Given the description of an element on the screen output the (x, y) to click on. 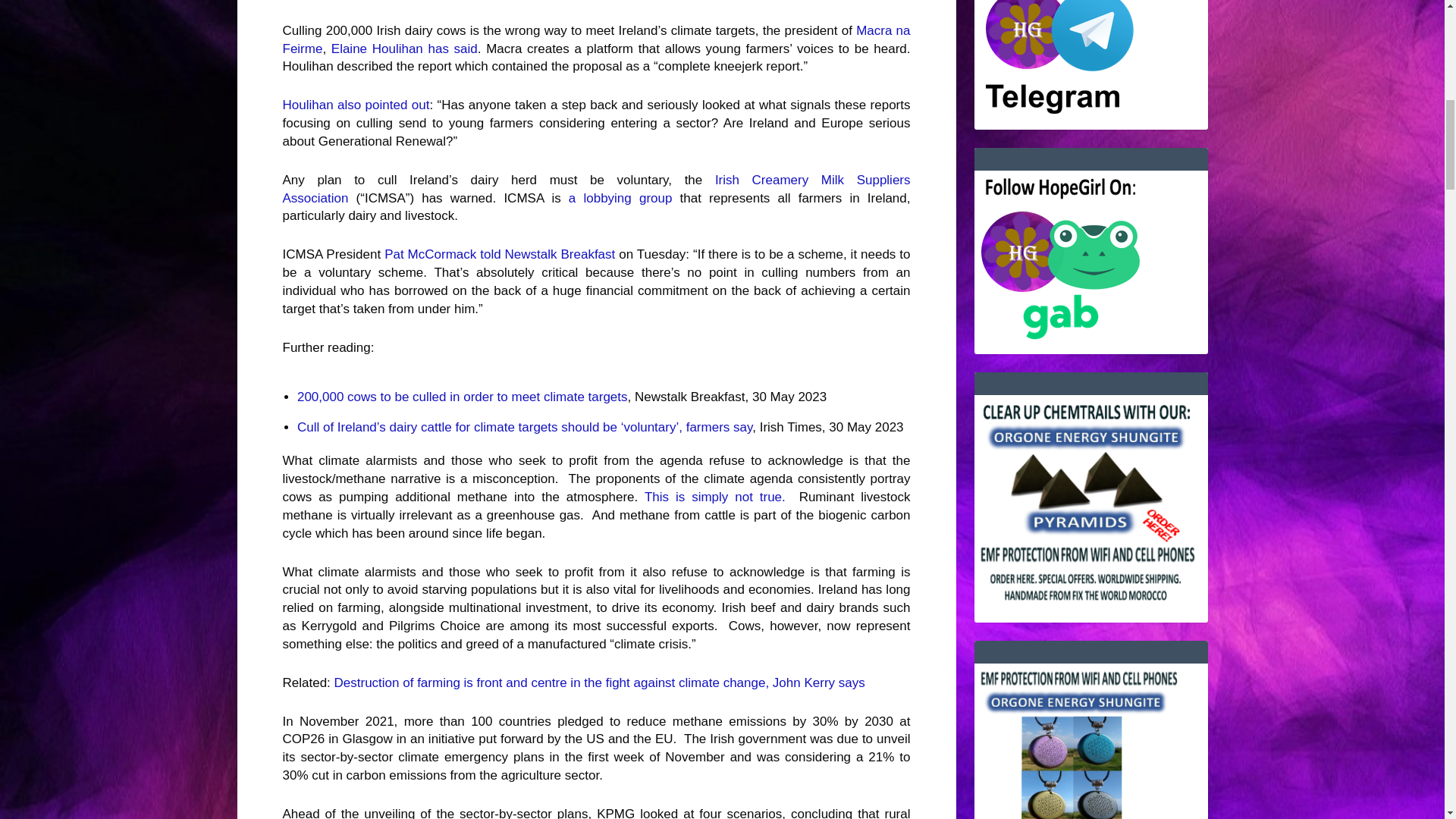
200,000 cows to be culled in order to meet climate targets (462, 396)
Pat McCormack told Newstalk Breakfast (499, 254)
Irish Creamery Milk Suppliers Association (596, 188)
Macra na Feirme (596, 39)
a lobbying group (620, 197)
This is simply not true. (715, 496)
Houlihan also pointed out (355, 104)
Elaine Houlihan has said (404, 48)
